Given the description of an element on the screen output the (x, y) to click on. 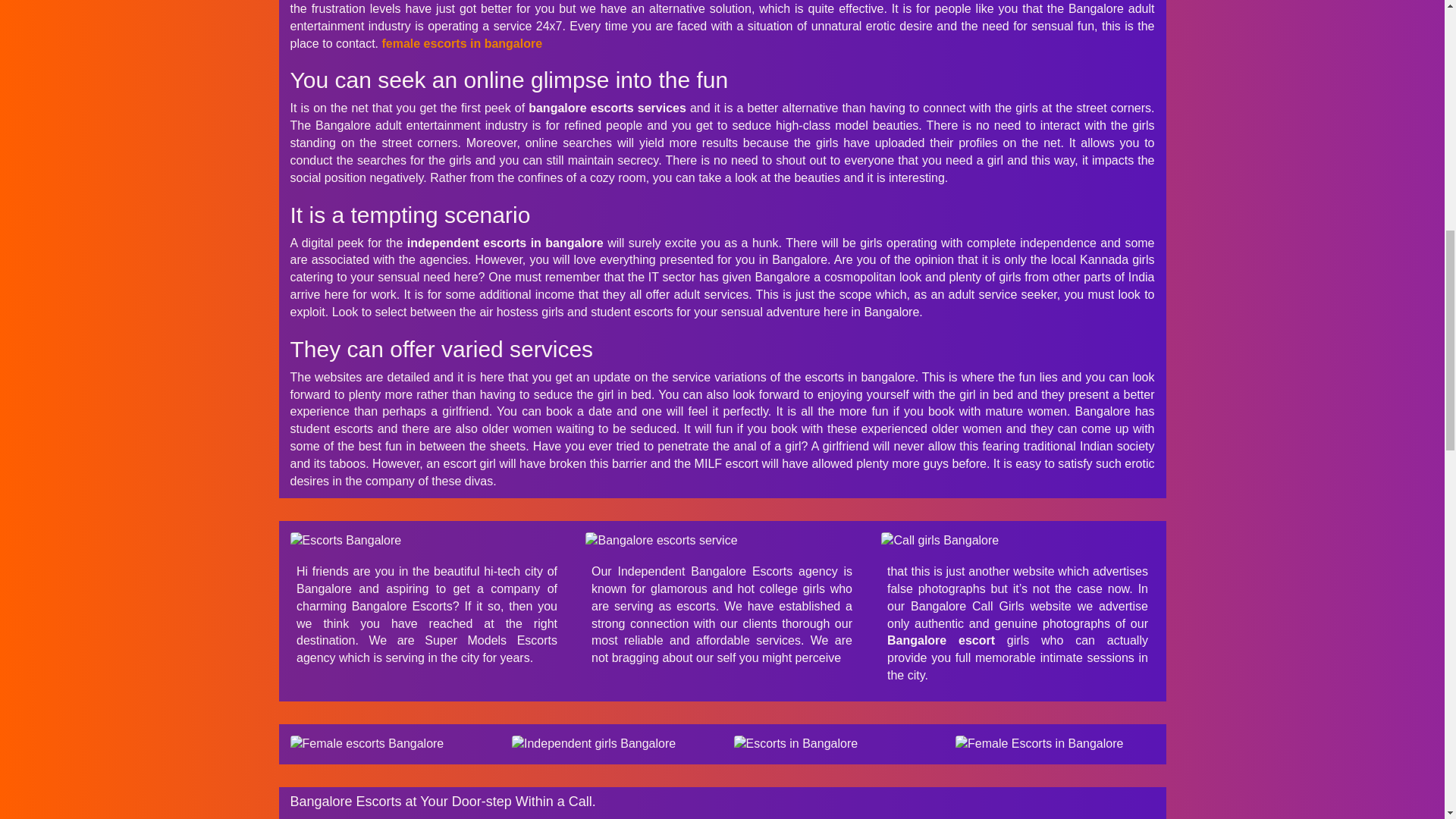
Bangalore escorts (1017, 540)
Bangalore escorts (389, 743)
Bangalore escorts (1054, 743)
Bangalore escorts (425, 540)
Bangalore escorts (833, 743)
female escorts in bangalore (461, 42)
Bangalore escorts (722, 540)
Bangalore escorts (611, 743)
